Given the description of an element on the screen output the (x, y) to click on. 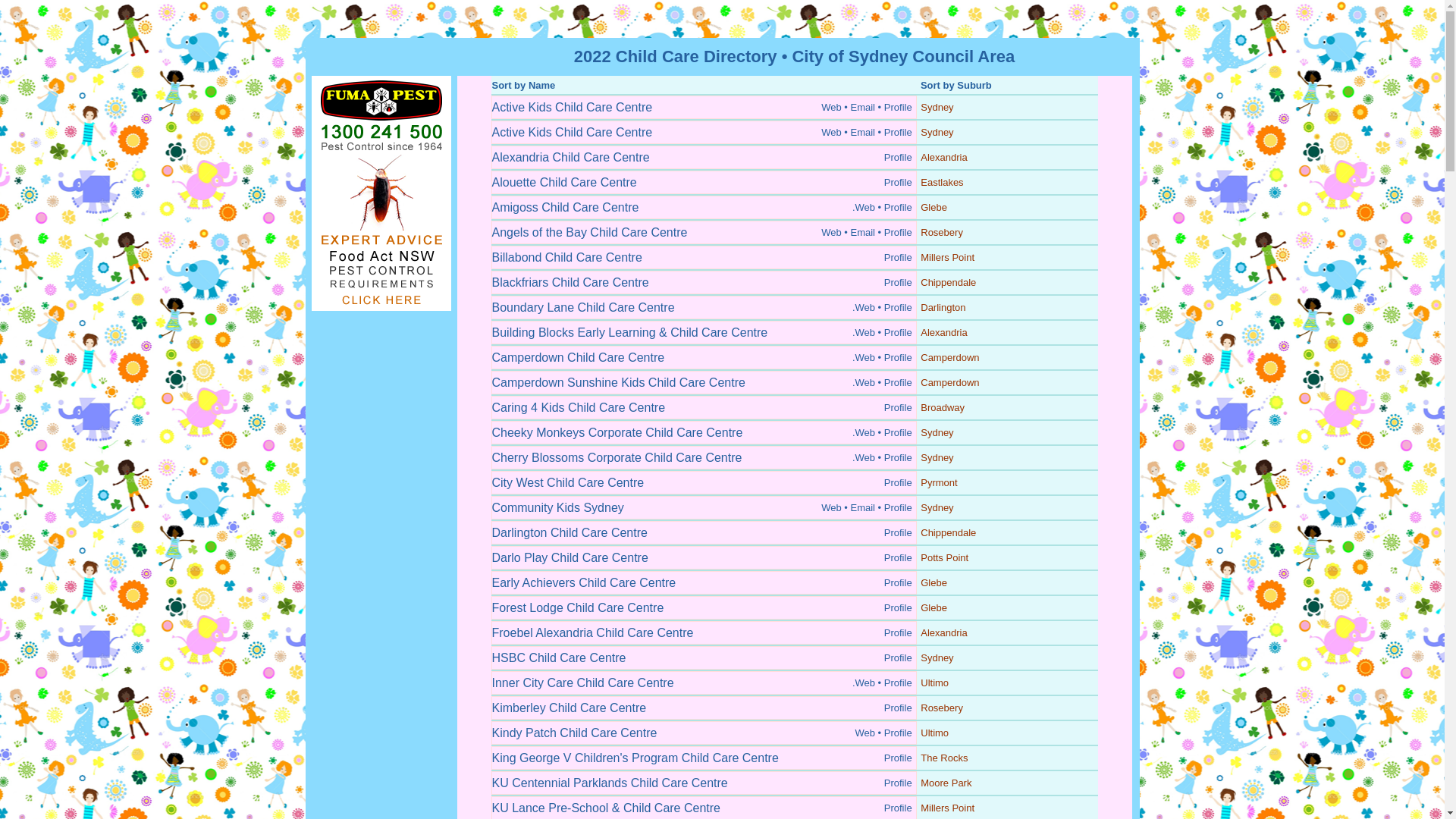
Potts Point Element type: text (944, 557)
Billabond Child Care Centre
Profile Element type: text (703, 257)
Sydney Element type: text (936, 132)
Sort by Name Element type: text (523, 84)
Sort by Suburb Element type: text (955, 84)
Rosebery Element type: text (941, 707)
Early Achievers Child Care Centre
Profile Element type: text (703, 582)
Camperdown Element type: text (949, 382)
Millers Point Element type: text (947, 807)
Caring 4 Kids Child Care Centre
Profile Element type: text (703, 407)
Glebe Element type: text (933, 582)
Chippendale Element type: text (947, 282)
Pyrmont Element type: text (938, 482)
Kimberley Child Care Centre
Profile Element type: text (703, 707)
Froebel Alexandria Child Care Centre
Profile Element type: text (703, 632)
Millers Point Element type: text (947, 257)
Glebe Element type: text (933, 207)
The Rocks Element type: text (943, 757)
Glebe Element type: text (933, 607)
Darlington Child Care Centre
Profile Element type: text (703, 532)
Sydney Element type: text (936, 507)
Forest Lodge Child Care Centre
Profile Element type: text (703, 607)
KU Centennial Parklands Child Care Centre
Profile Element type: text (703, 782)
Sydney Element type: text (936, 432)
Broadway Element type: text (942, 407)
Sydney Element type: text (936, 457)
Ultimo Element type: text (934, 732)
Alouette Child Care Centre
Profile Element type: text (703, 182)
Darlington Element type: text (942, 307)
Alexandria Element type: text (943, 157)
Blackfriars Child Care Centre
Profile Element type: text (703, 282)
Ultimo Element type: text (934, 682)
Darlo Play Child Care Centre
Profile Element type: text (703, 557)
City West Child Care Centre
Profile Element type: text (703, 482)
Moore Park Element type: text (945, 782)
Alexandria Child Care Centre
Profile Element type: text (703, 157)
Eastlakes Element type: text (941, 182)
HSBC Child Care Centre
Profile Element type: text (703, 657)
Sydney Element type: text (936, 106)
Alexandria Element type: text (943, 332)
Camperdown Element type: text (949, 357)
Alexandria Element type: text (943, 632)
Rosebery Element type: text (941, 232)
Sydney Element type: text (936, 657)
Chippendale Element type: text (947, 532)
King George V Children's Program Child Care Centre
Profile Element type: text (703, 757)
